Given the description of an element on the screen output the (x, y) to click on. 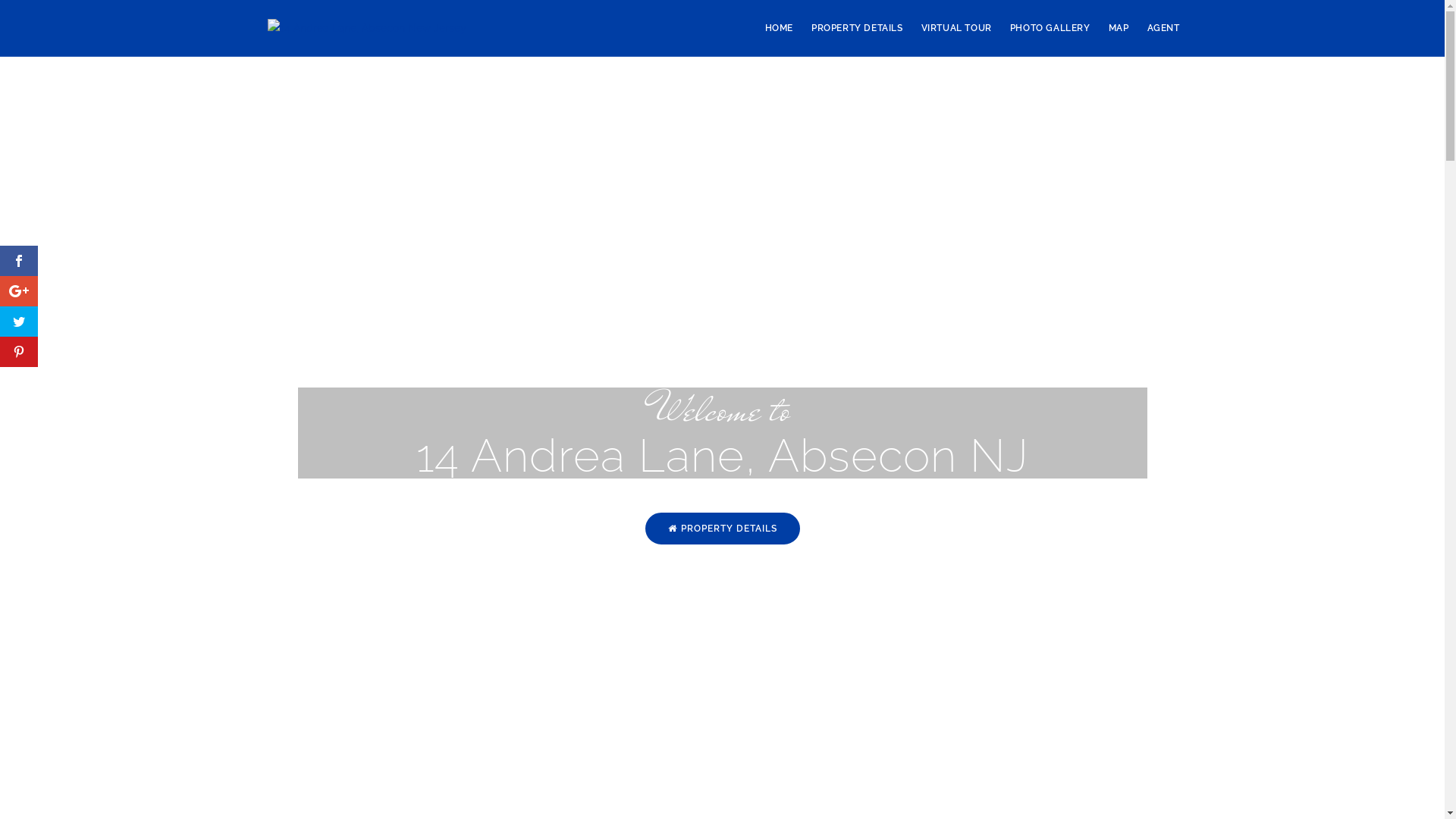
PROPERTY DETAILS Element type: text (857, 28)
AGENT Element type: text (1162, 28)
HOME Element type: text (779, 28)
MAP Element type: text (1118, 28)
PHOTO GALLERY Element type: text (1050, 28)
PROPERTY DETAILS Element type: text (721, 528)
VIRTUAL TOUR Element type: text (956, 28)
